Given the description of an element on the screen output the (x, y) to click on. 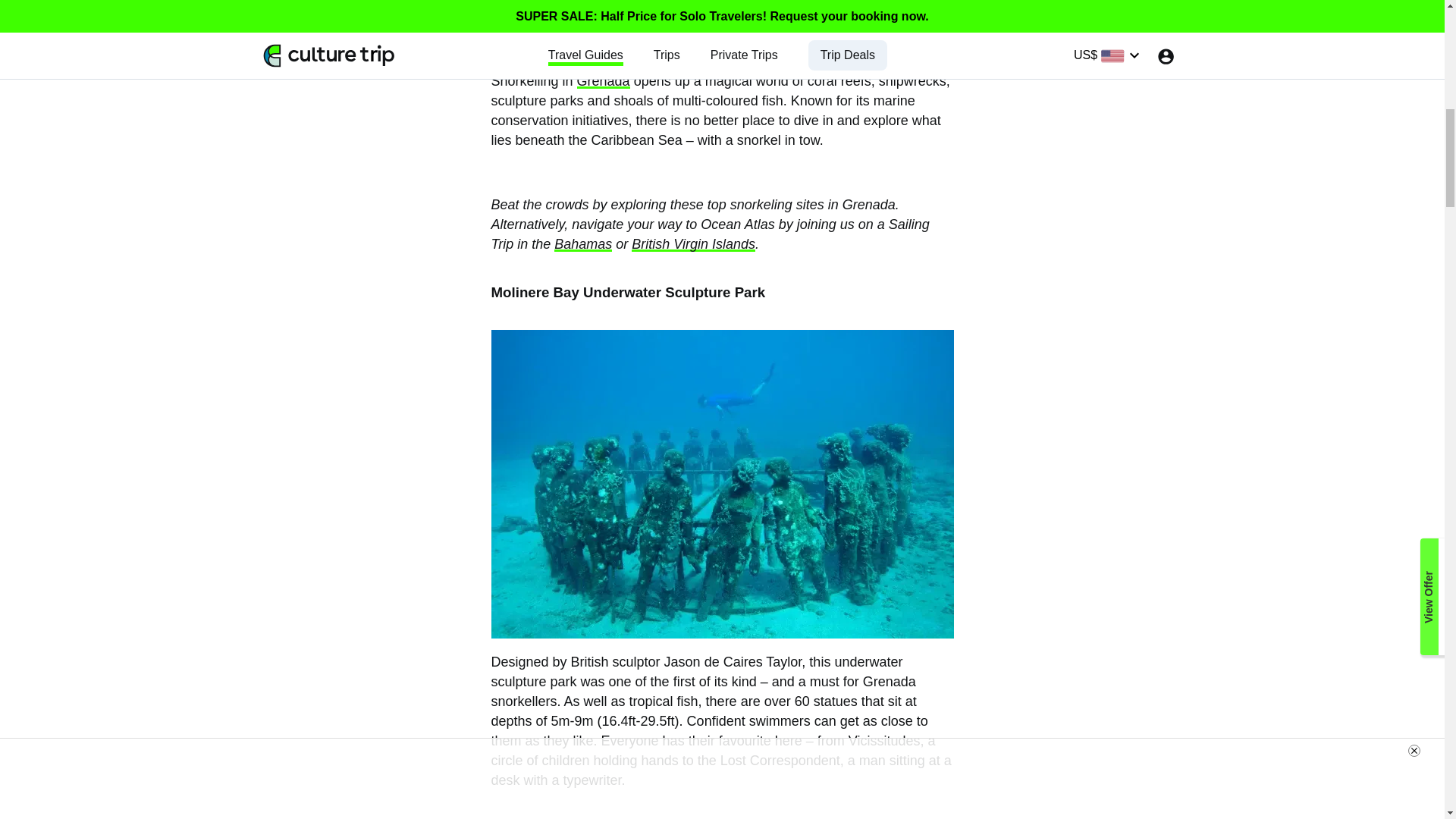
British Virgin Islands (693, 243)
Bahamas (582, 243)
Grenada (603, 80)
22 October 2021 (364, 40)
